Given the description of an element on the screen output the (x, y) to click on. 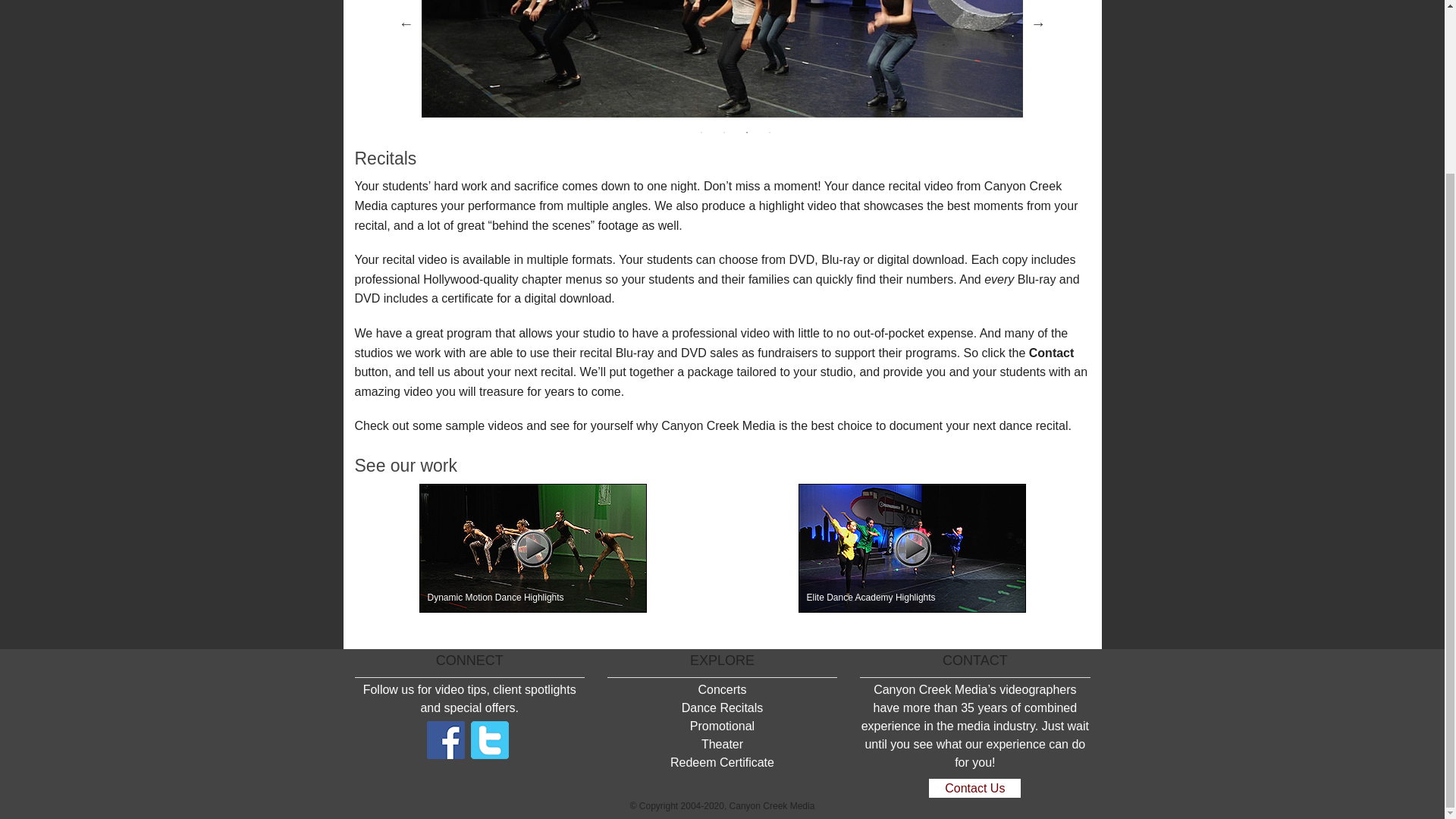
Elite Dance Academy Highlights (911, 548)
Film to Video Transfer (944, 13)
Promotional Videos (836, 13)
Next (1037, 23)
Contact Us (974, 787)
Dynamic Motion Dance Highlights (532, 548)
Promotional (722, 725)
Redeem Certificate (721, 762)
3 (746, 132)
Theater (836, 44)
Concerts (721, 689)
Contact (1051, 352)
4 (769, 132)
1 (701, 132)
Dance Recitals (721, 707)
